Given the description of an element on the screen output the (x, y) to click on. 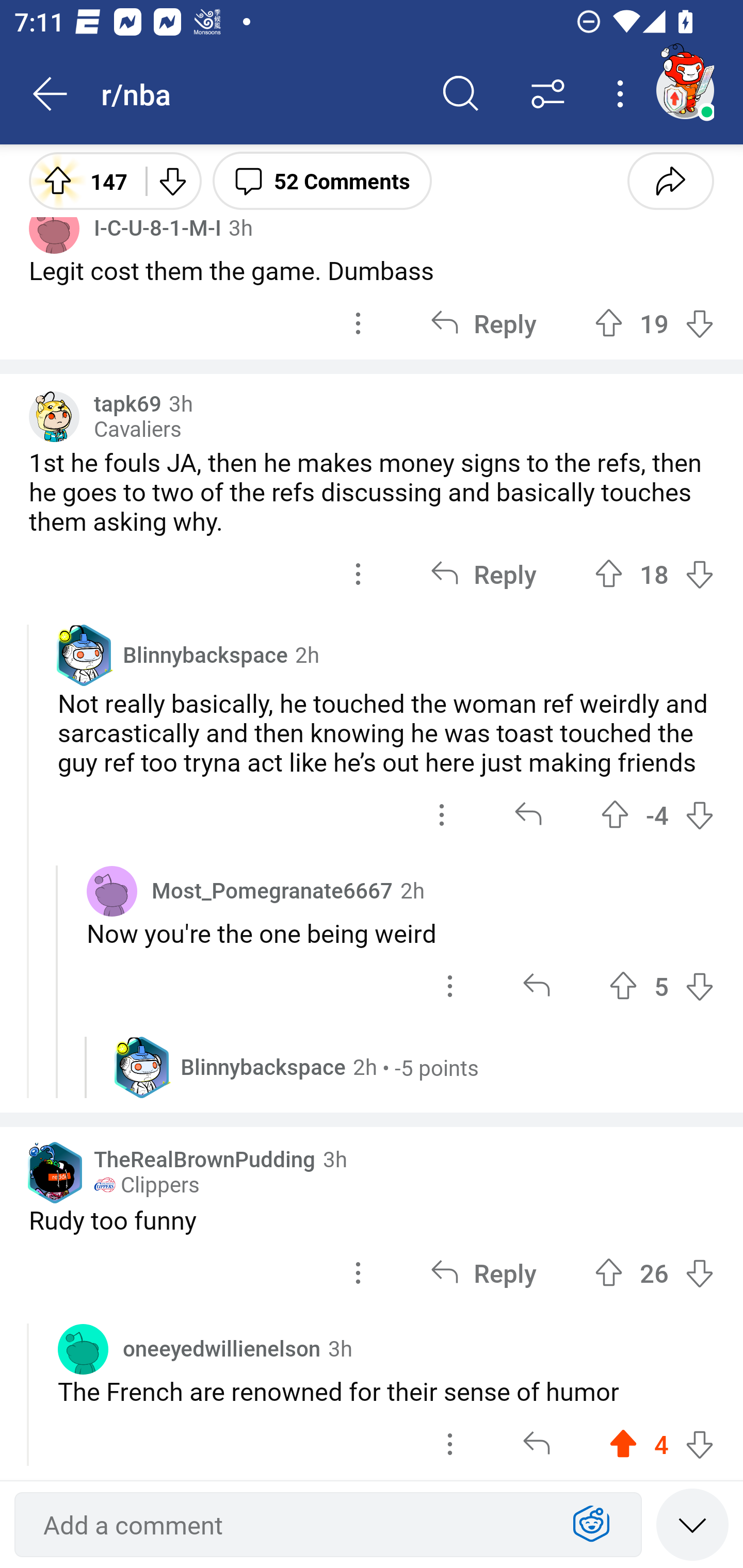
Back (50, 93)
TestAppium002 account (685, 90)
Search comments (460, 93)
Sort comments (547, 93)
More options (623, 93)
r/nba (259, 92)
Upvote 147 (79, 180)
Downvote (171, 180)
52 Comments (321, 180)
Share (670, 180)
Legit cost them the game. Dumbass (371, 270)
options (358, 322)
Reply (483, 322)
Upvote 19 19 votes Downvote (654, 322)
Custom avatar (53, 417)
Cavaliers (137, 429)
options (358, 573)
Reply (483, 573)
Upvote 18 18 votes Downvote (654, 573)
options (441, 815)
Upvote -4 -4 votes Downvote (657, 815)
Avatar (111, 890)
Now you're the one being weird (400, 932)
options (449, 986)
Upvote 5 5 votes Downvote (661, 986)
￼ Clippers (146, 1184)
Rudy too funny (371, 1219)
options (358, 1273)
Reply (483, 1273)
Upvote 26 26 votes Downvote (654, 1273)
Avatar (82, 1348)
The French are renowned for their sense of humor (385, 1390)
options (449, 1444)
Upvote 4 4 votes Downvote (661, 1444)
Speed read (692, 1524)
Add a comment (291, 1524)
Show Expressions (590, 1524)
